Given the description of an element on the screen output the (x, y) to click on. 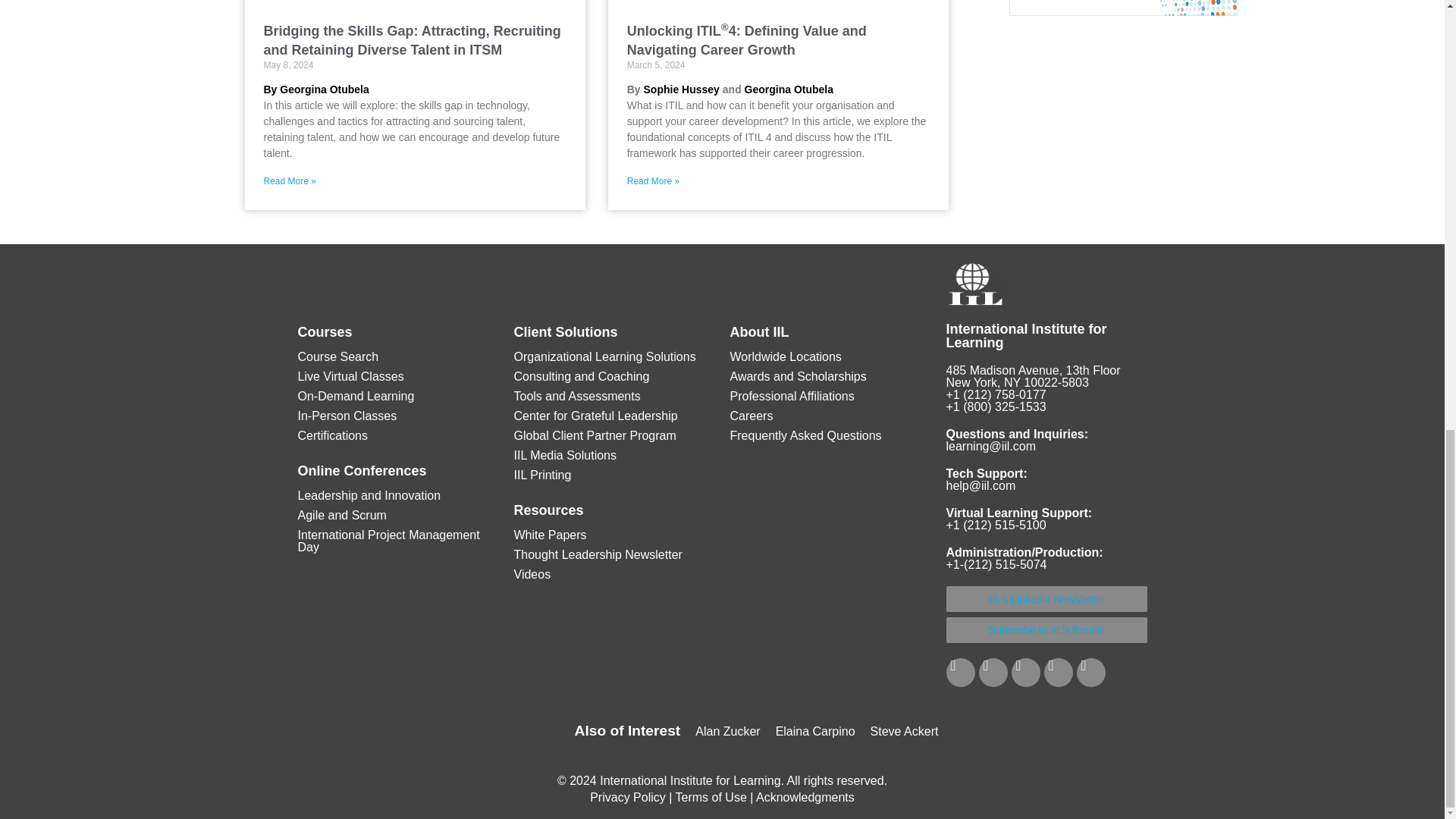
Sophie Hussey (681, 89)
By Georgina Otubela (316, 89)
Georgina Otubela (788, 89)
